Given the description of an element on the screen output the (x, y) to click on. 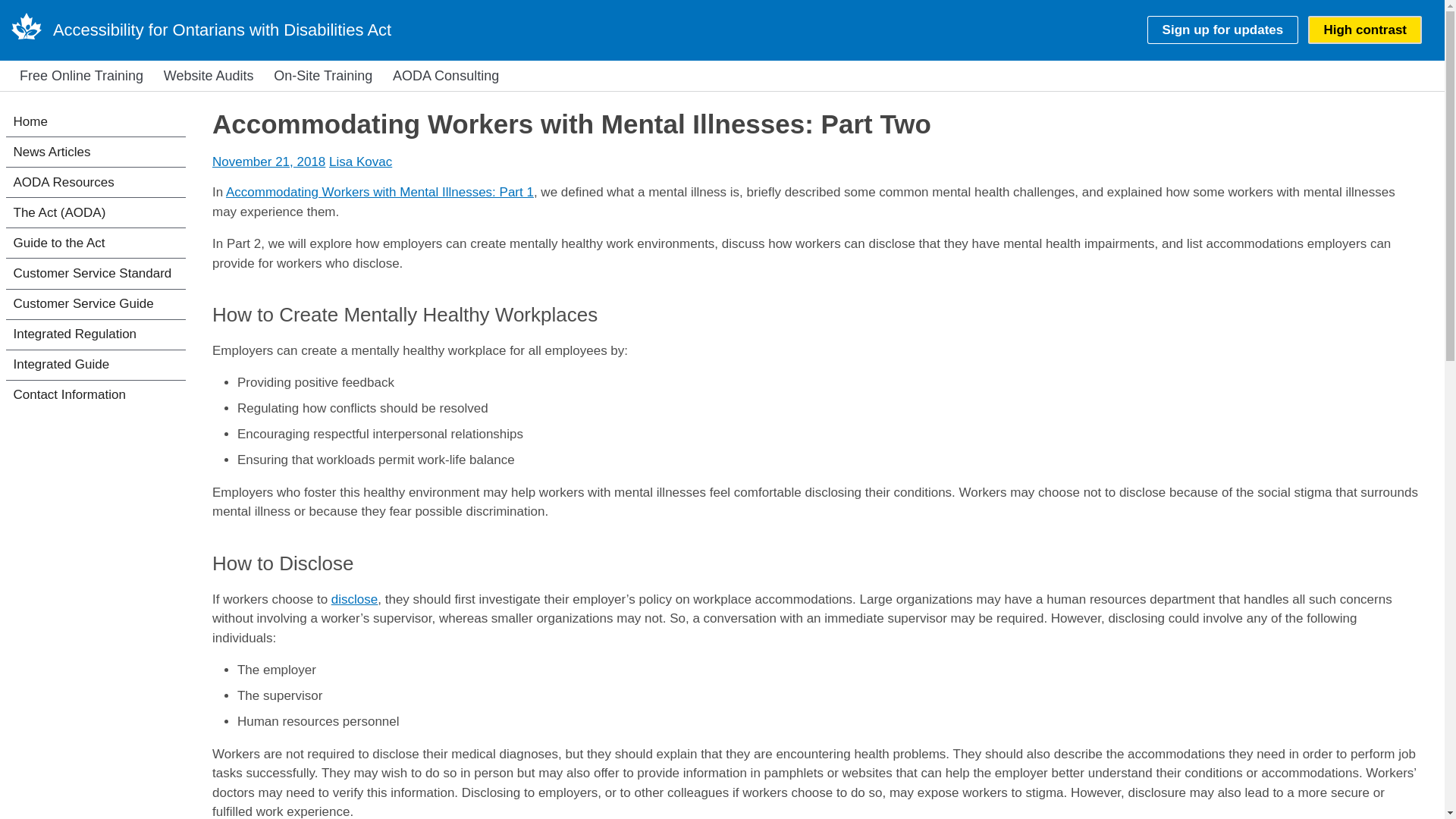
Sign up for updates (1222, 29)
Free Online Training (81, 75)
Accessibility for Ontarians with Disabilities Act (221, 29)
disclose (354, 599)
Home (221, 29)
November 21, 2018 (268, 161)
Customer Service Guide (95, 304)
Integrated Regulation (95, 334)
Home (95, 121)
AODA Consulting (445, 75)
Website Audits (208, 75)
On-Site Training (322, 75)
AODA Resources (95, 182)
News Articles (95, 152)
Customer Service Standard (95, 273)
